Given the description of an element on the screen output the (x, y) to click on. 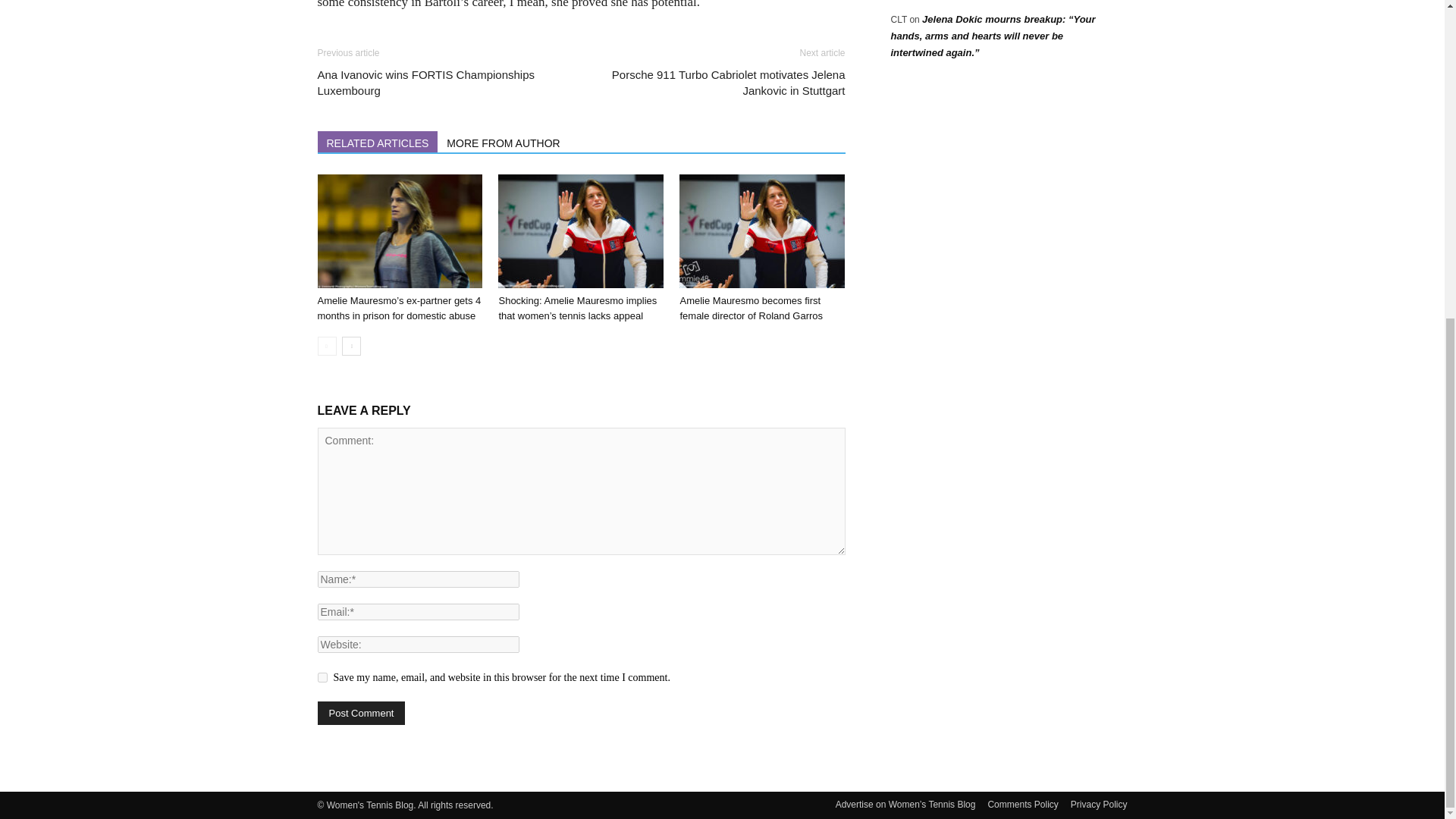
Post Comment (360, 712)
yes (321, 677)
